Given the description of an element on the screen output the (x, y) to click on. 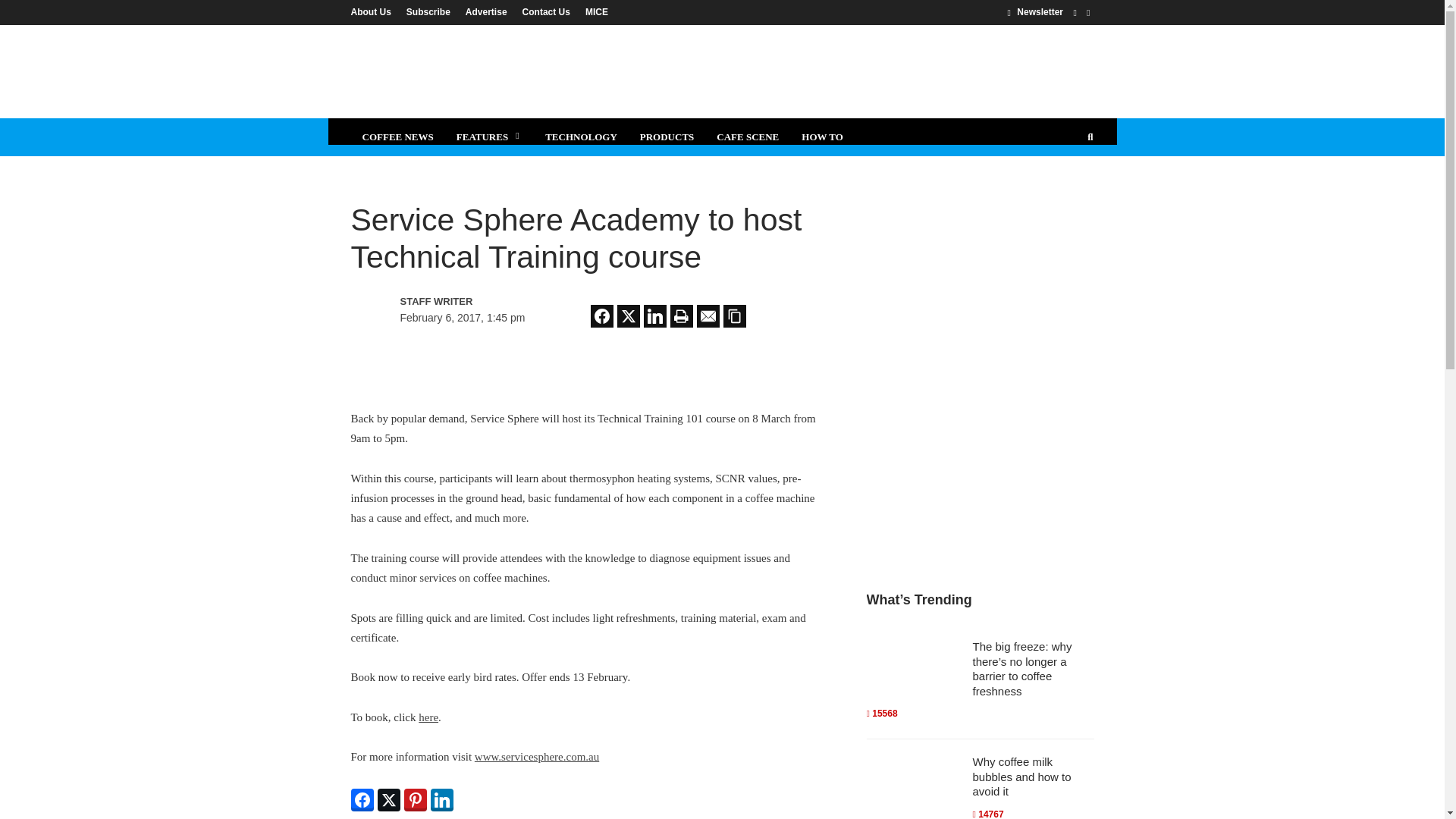
Share on Facebook (601, 315)
Newsletter (1034, 11)
STAFF WRITER (465, 301)
Contact Us (546, 11)
View all posts by Staff Writer (465, 301)
Share on Email (708, 315)
TECHNOLOGY (581, 136)
Share on LinkedIn (654, 315)
Share on Pinterest (414, 799)
HOW TO (822, 136)
